Given the description of an element on the screen output the (x, y) to click on. 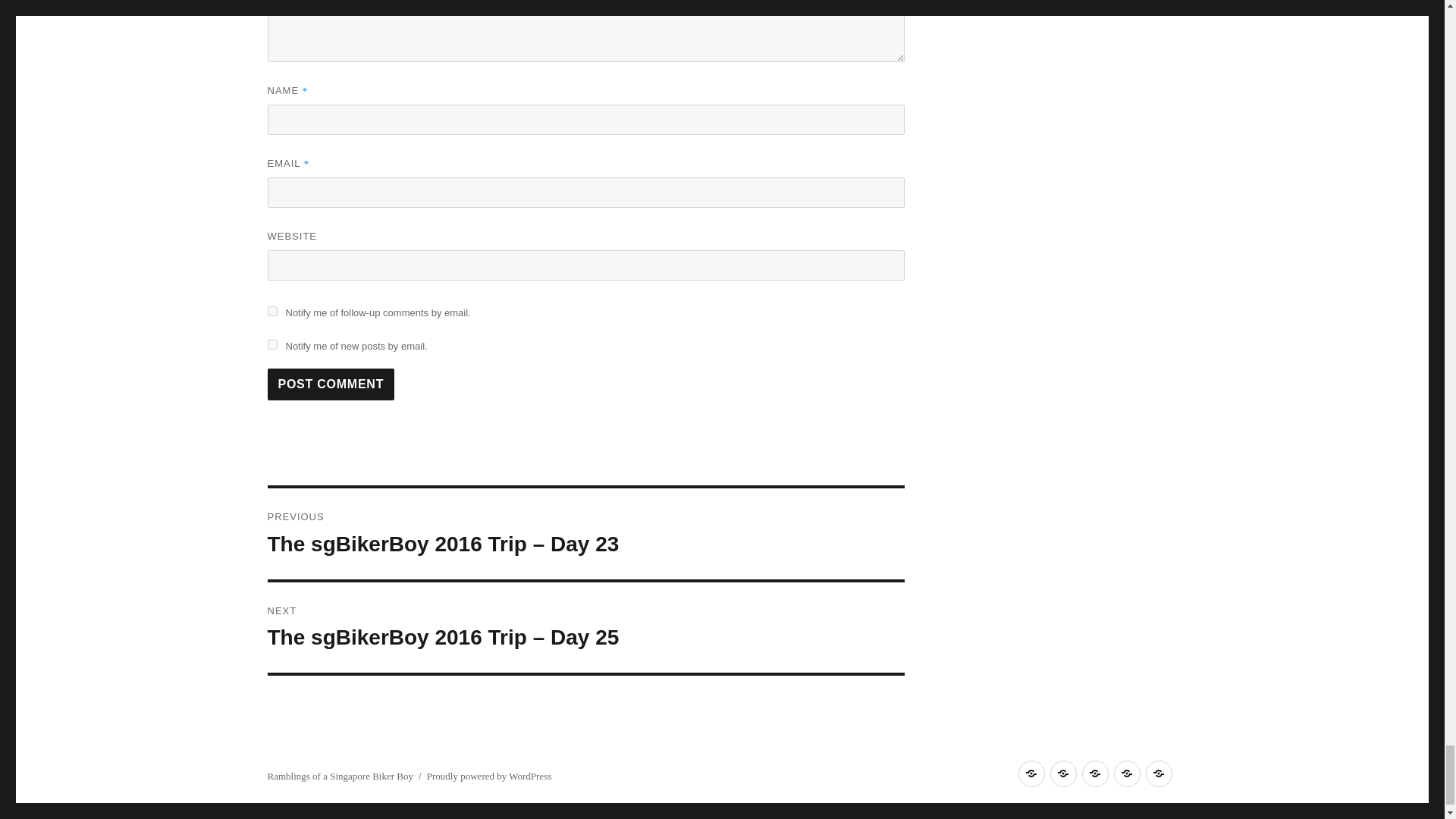
subscribe (271, 311)
subscribe (271, 344)
Post Comment (330, 384)
